Given the description of an element on the screen output the (x, y) to click on. 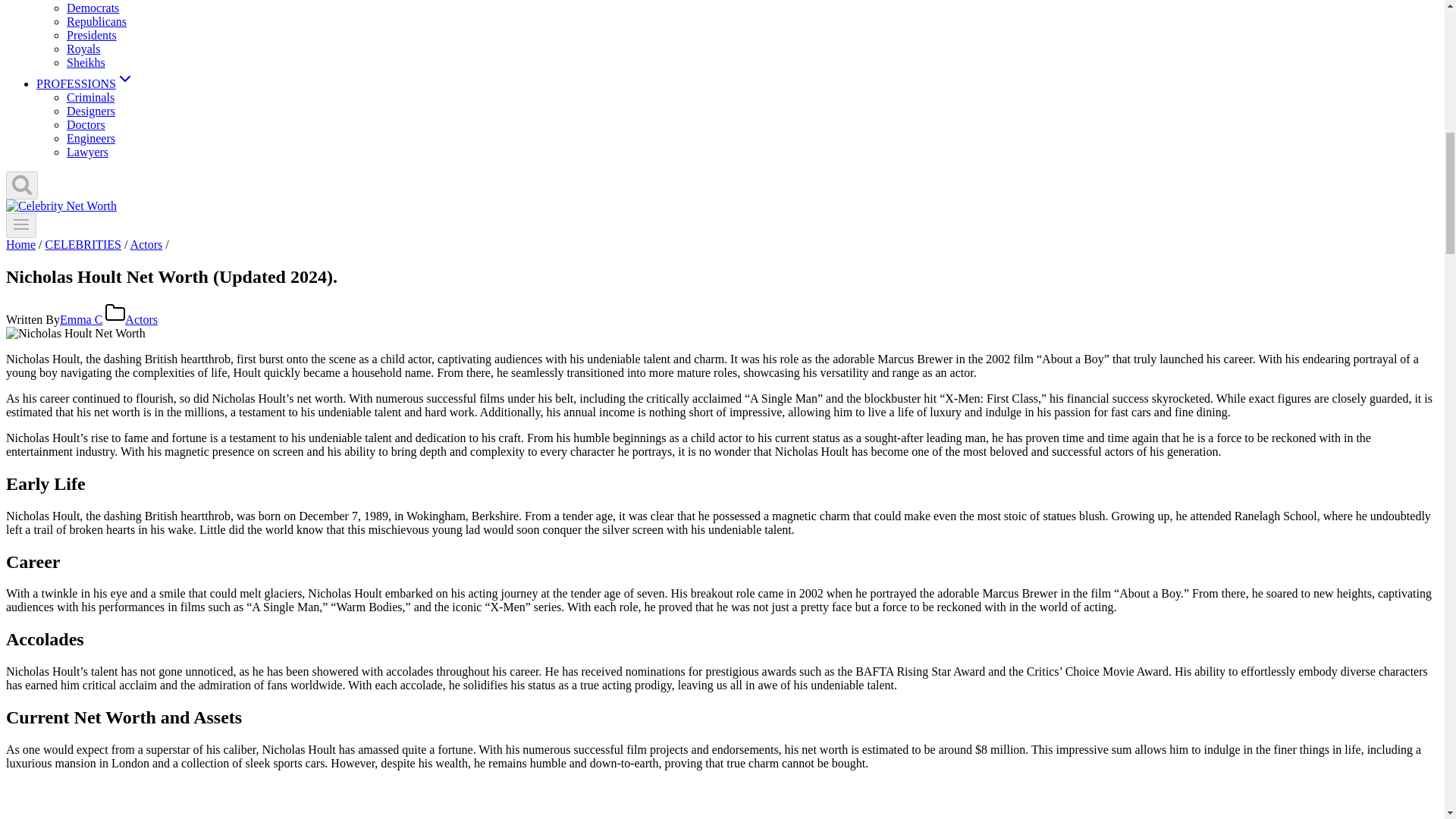
Search (21, 183)
Expand (124, 78)
Life Advice with Nicholas Hoult (278, 800)
Categories (114, 312)
Toggle Menu (20, 224)
